Given the description of an element on the screen output the (x, y) to click on. 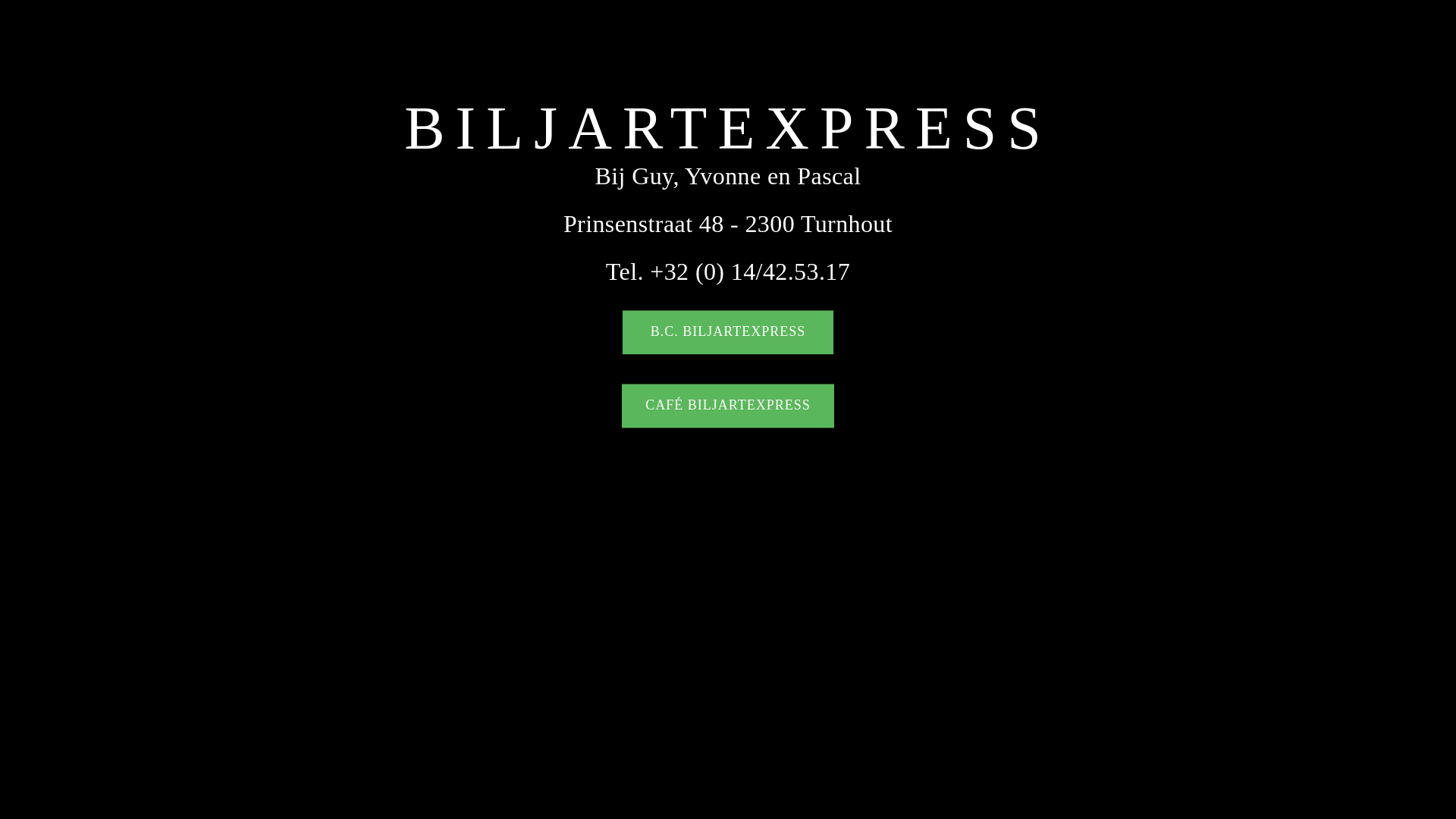
 B.C. BILJARTEXPRESS  Element type: text (727, 332)
